Given the description of an element on the screen output the (x, y) to click on. 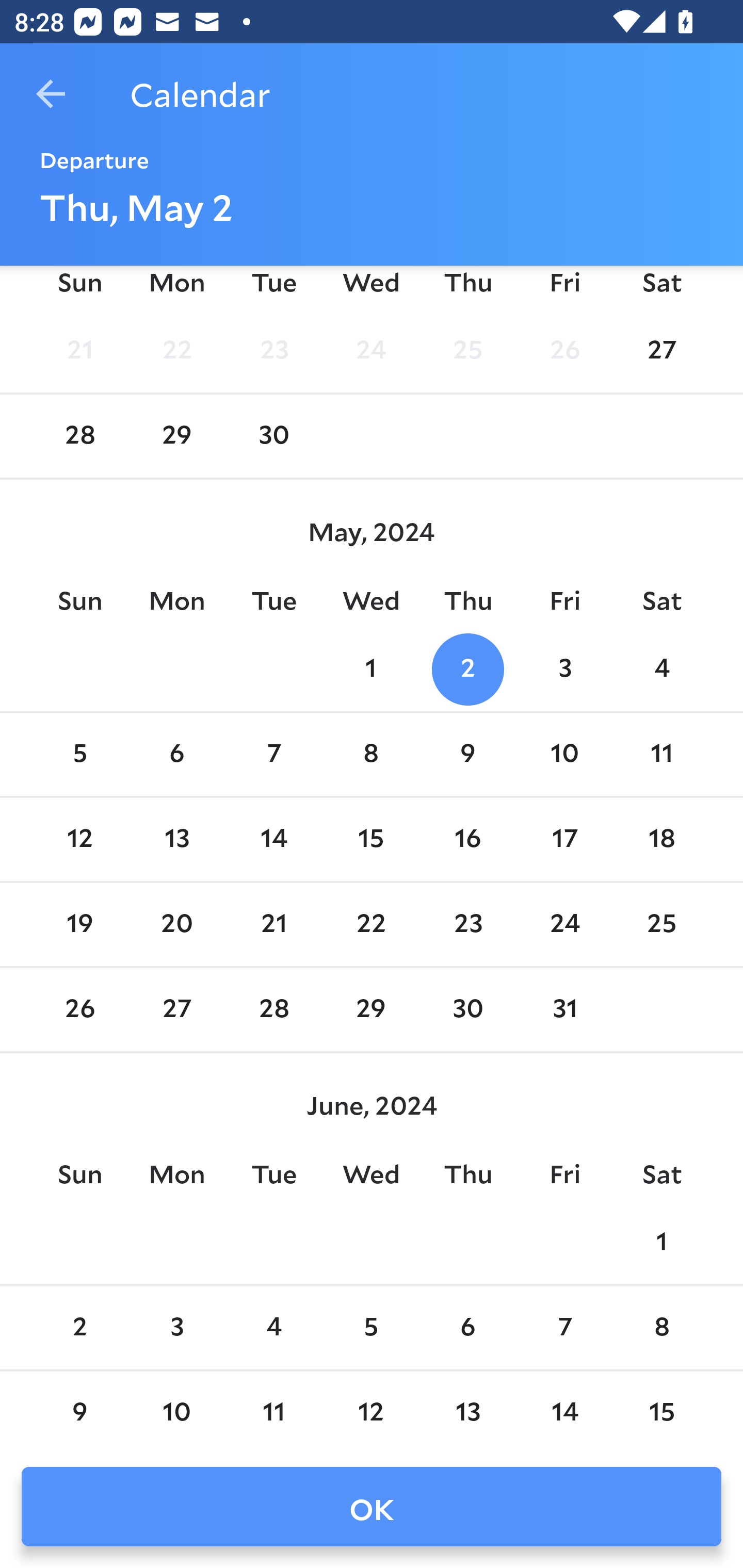
Navigate up (50, 93)
21 (79, 351)
22 (177, 351)
23 (273, 351)
24 (371, 351)
25 (467, 351)
26 (565, 351)
27 (661, 351)
28 (79, 435)
29 (177, 435)
30 (273, 435)
1 (371, 669)
2 (467, 669)
3 (565, 669)
4 (661, 669)
5 (79, 754)
6 (177, 754)
7 (273, 754)
8 (371, 754)
9 (467, 754)
10 (565, 754)
11 (661, 754)
12 (79, 839)
13 (177, 839)
14 (273, 839)
15 (371, 839)
16 (467, 839)
17 (565, 839)
18 (661, 839)
19 (79, 925)
20 (177, 925)
21 (273, 925)
22 (371, 925)
23 (467, 925)
24 (565, 925)
25 (661, 925)
26 (79, 1009)
27 (177, 1009)
28 (273, 1009)
29 (371, 1009)
30 (467, 1009)
31 (565, 1009)
1 (661, 1243)
2 (79, 1328)
3 (177, 1328)
4 (273, 1328)
5 (371, 1328)
6 (467, 1328)
7 (565, 1328)
8 (661, 1328)
9 (79, 1410)
10 (177, 1410)
11 (273, 1410)
12 (371, 1410)
13 (467, 1410)
14 (565, 1410)
15 (661, 1410)
OK (371, 1506)
